Given the description of an element on the screen output the (x, y) to click on. 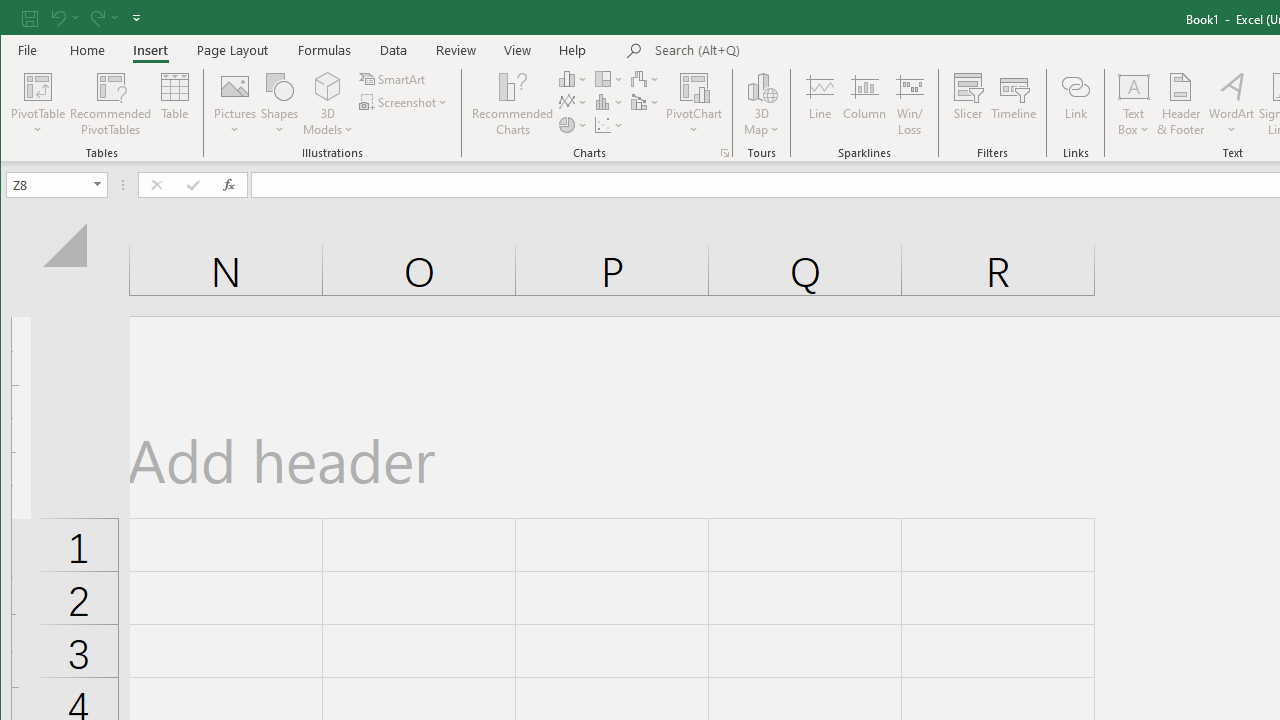
Insert Line or Area Chart (573, 101)
Insert Waterfall, Funnel, Stock, Surface, or Radar Chart (646, 78)
Insert Combo Chart (646, 101)
3D Map (762, 86)
SmartArt... (393, 78)
Insert Column or Bar Chart (573, 78)
PivotChart (694, 104)
Insert Statistic Chart (609, 101)
Line (819, 104)
Recommended Charts (724, 152)
